Given the description of an element on the screen output the (x, y) to click on. 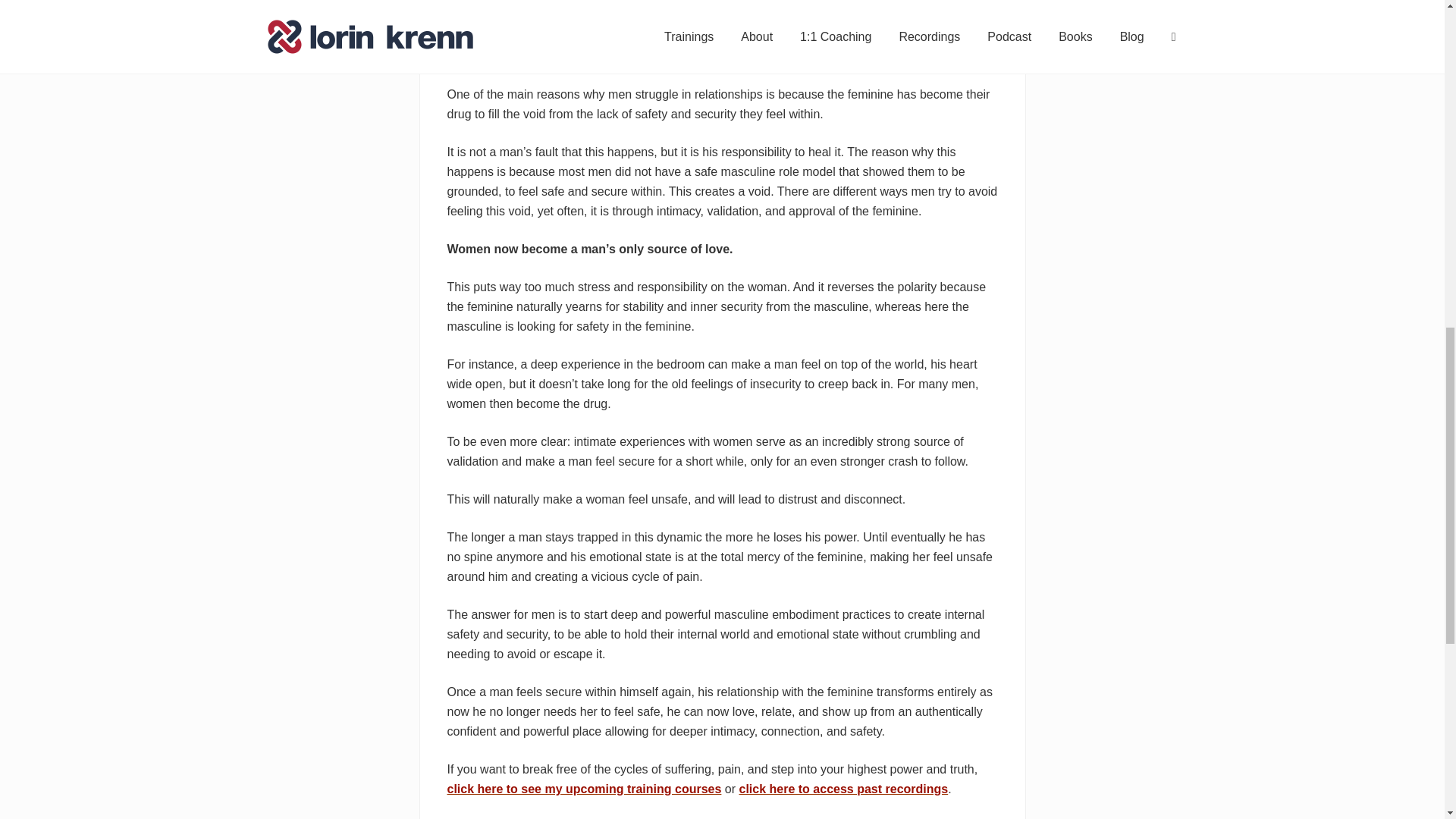
click here to see my upcoming training courses (584, 788)
click here to access past recordings (844, 788)
Lorin Krenn (569, 57)
